Given the description of an element on the screen output the (x, y) to click on. 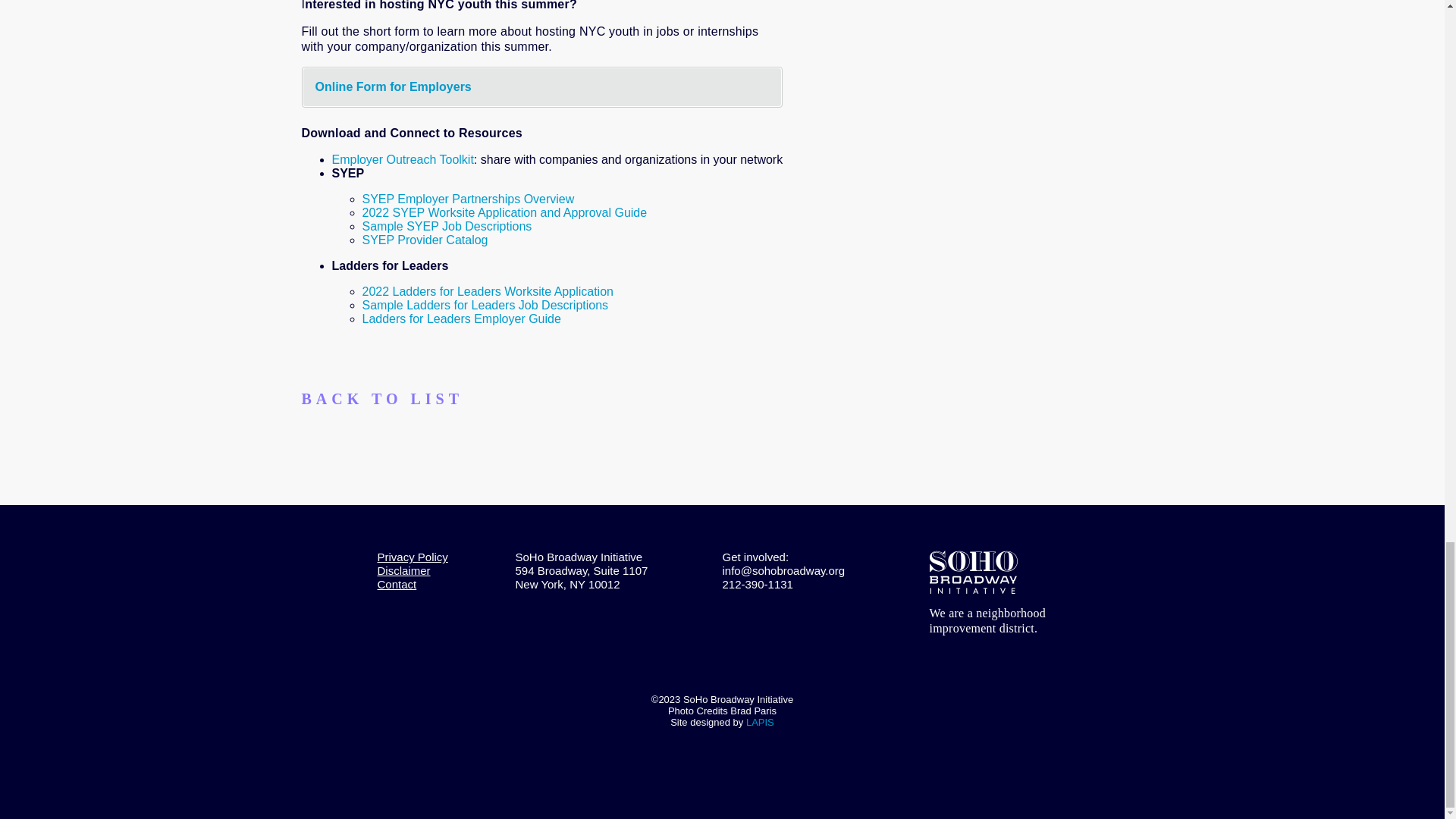
Online Form for Employers (393, 86)
SYEP Employer Partnerships Overview (468, 198)
Employer Outreach Toolkit (402, 159)
